Given the description of an element on the screen output the (x, y) to click on. 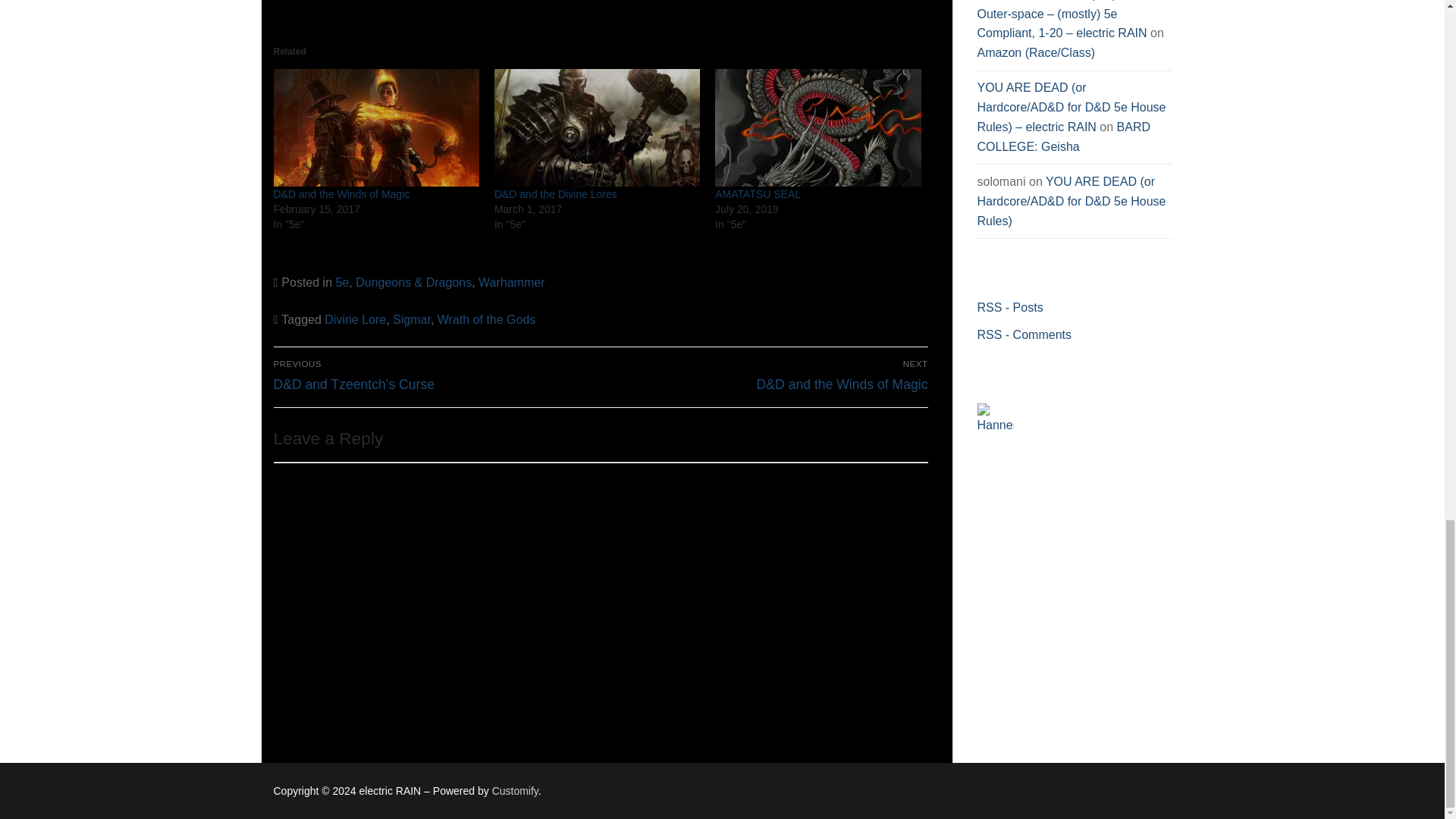
Divine Lore (354, 318)
Sigmar (411, 318)
AMATATSU SEAL (757, 193)
Wrath of the Gods (486, 318)
Like or Reblog (600, 5)
Warhammer (511, 282)
5e (341, 282)
